Given the description of an element on the screen output the (x, y) to click on. 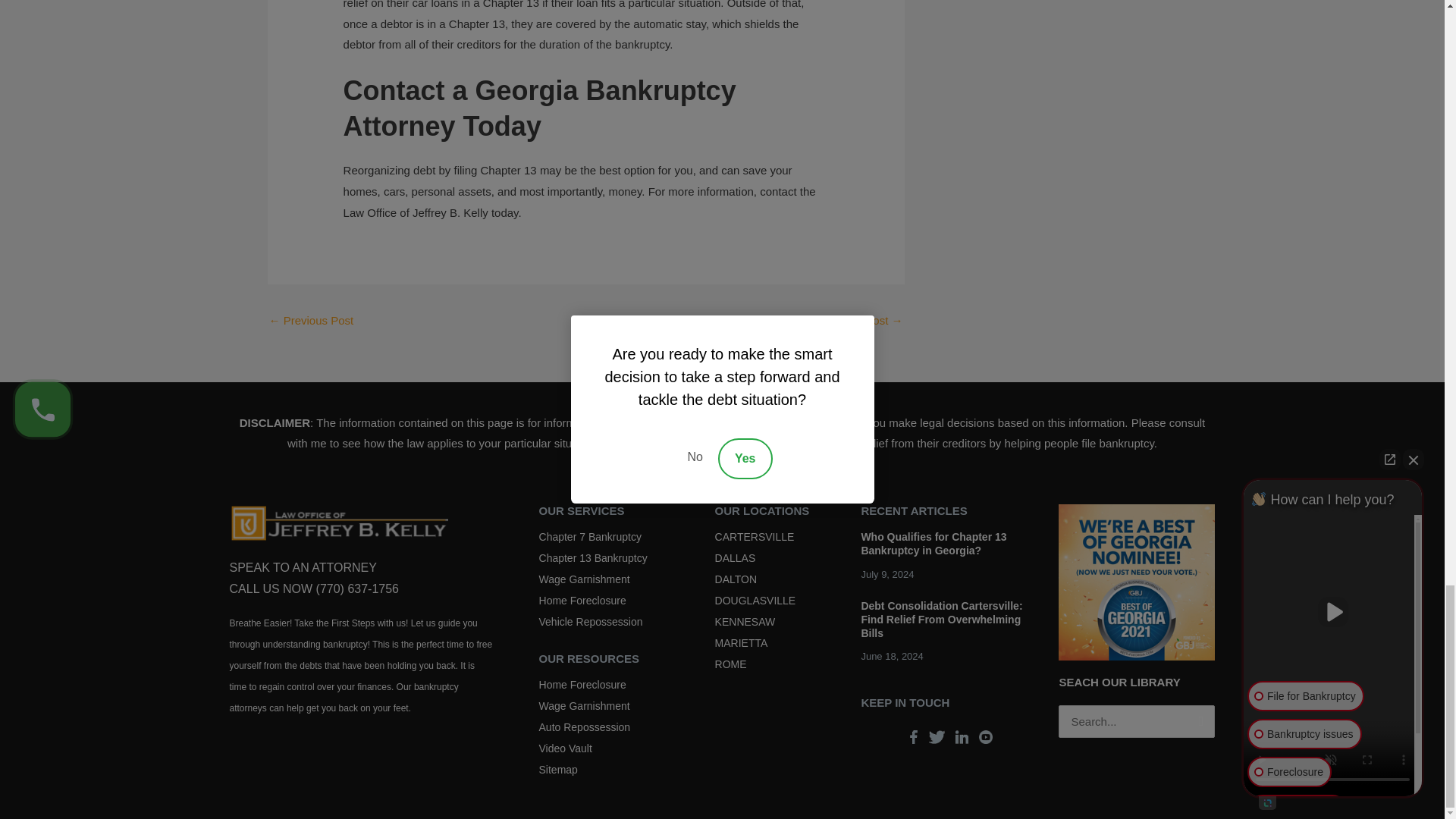
Trump Victory and Potential Changes to Bankruptcy Laws (310, 321)
Twitter (936, 736)
Who Qualifies for Chapter 13 Bankruptcy in Georgia? (933, 543)
Find me on Georgia Business Journal (1136, 581)
Linkedin (961, 736)
Youtube (985, 736)
Search (1197, 725)
Search (1197, 725)
Tribute to Goals Master Bill Johnston (870, 321)
jeff-kelly-new-logo-trans-white-min (337, 523)
Facebook (913, 736)
